Given the description of an element on the screen output the (x, y) to click on. 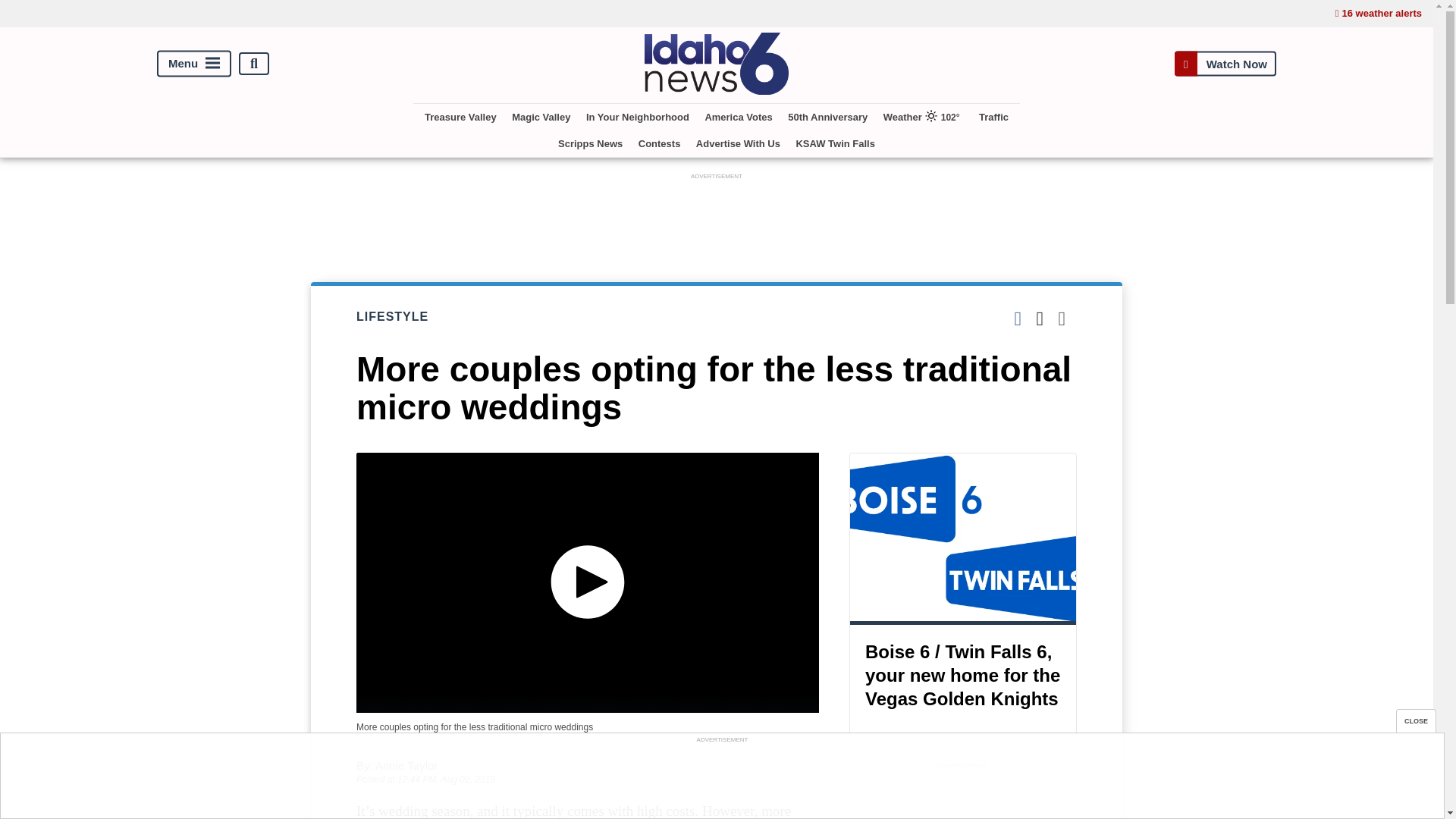
3rd party ad content (716, 217)
Watch Now (1224, 63)
3rd party ad content (962, 796)
3rd party ad content (721, 780)
Menu (194, 63)
